Given the description of an element on the screen output the (x, y) to click on. 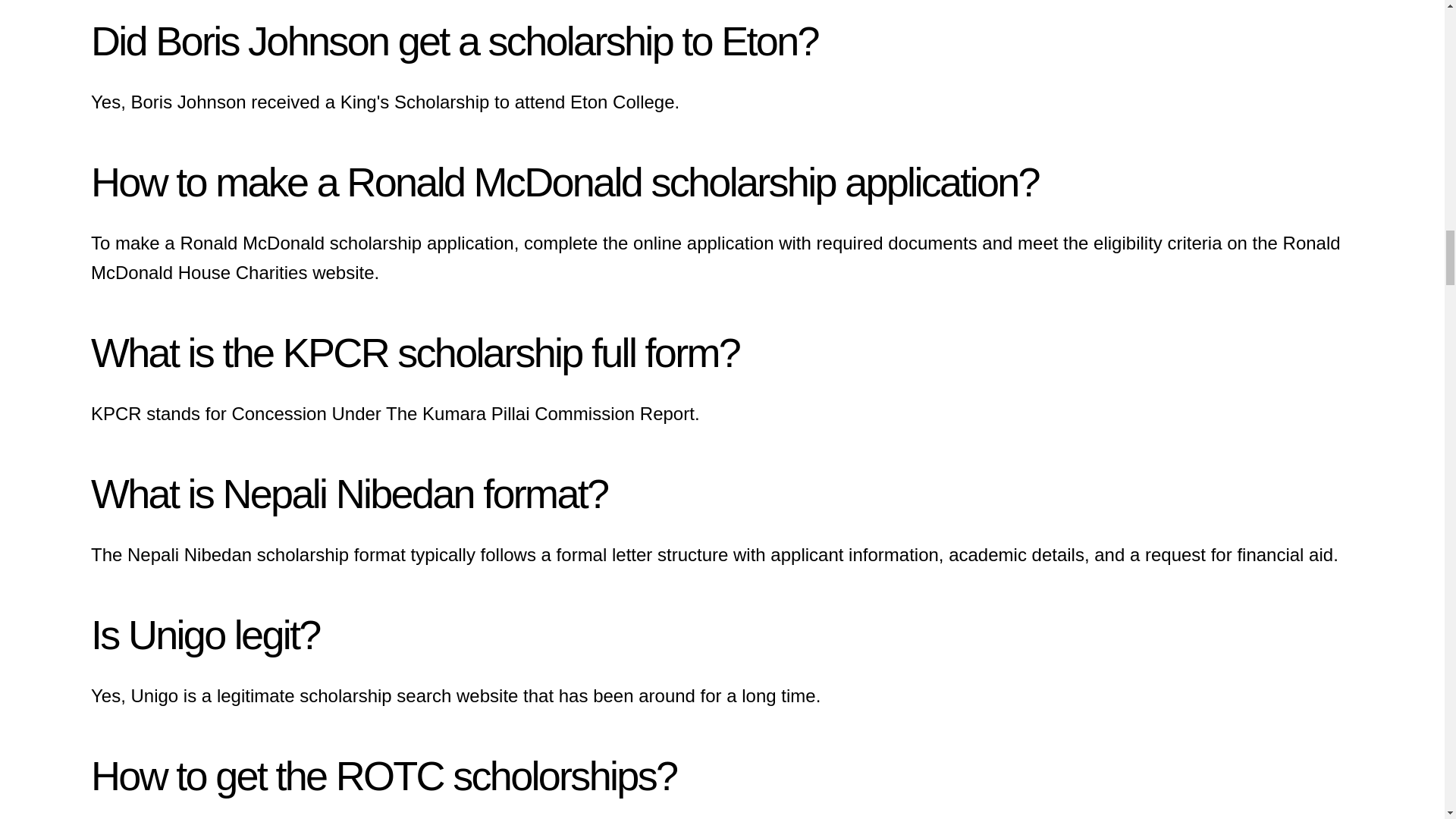
Did Boris Johnson get a scholarship to Eton? (454, 40)
How to get the ROTC scholorships? (383, 775)
What is the KPCR scholarship full form? (414, 352)
Is Unigo legit? (205, 634)
What is Nepali Nibedan format? (348, 493)
How to make a Ronald McDonald scholarship application? (564, 181)
